Given the description of an element on the screen output the (x, y) to click on. 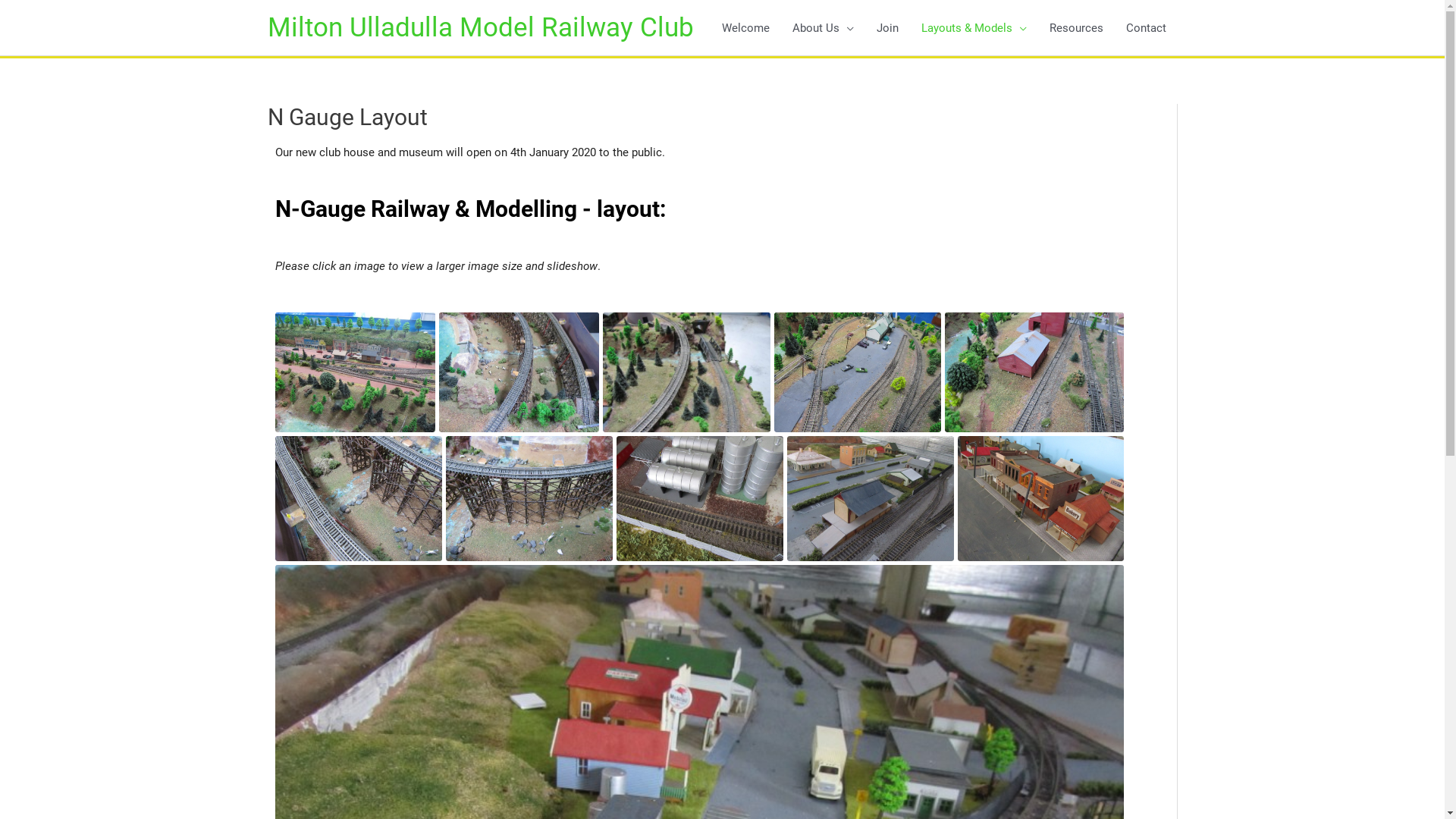
Resources Element type: text (1075, 27)
About Us Element type: text (823, 27)
Trestle Bridge modelling in detail Element type: hover (528, 498)
Welcome Element type: text (744, 27)
Layouts & Models Element type: text (974, 27)
Join Element type: text (886, 27)
Perfect scale modelling Element type: hover (1033, 372)
Railway Station  Element type: hover (870, 498)
Contact Element type: text (1145, 27)
A townscape begins Element type: hover (1040, 498)
Townscape Element type: hover (354, 372)
Trestle Bridge modelling in detail Element type: hover (357, 498)
Milton Ulladulla Model Railway Club Element type: text (479, 27)
N-gauge railway Element type: hover (685, 372)
The skill of modelling on display Element type: hover (856, 372)
Example of our model details Element type: hover (698, 498)
Trestle Bridge Element type: hover (518, 372)
